Given the description of an element on the screen output the (x, y) to click on. 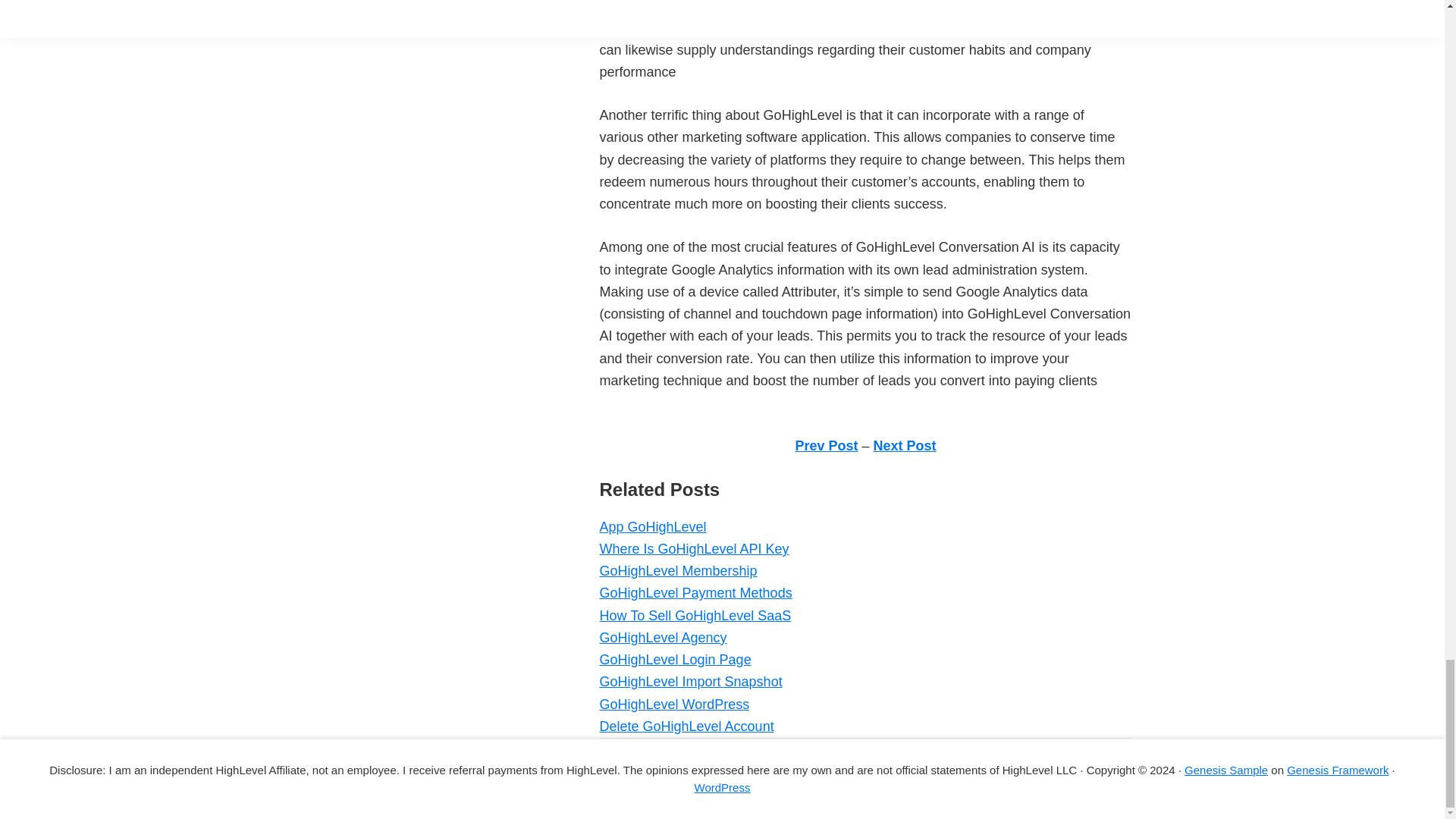
GoHighLevel Payment Methods (695, 592)
Delete GoHighLevel Account (685, 726)
GoHighLevel Membership (677, 570)
GoHighLevel Import Snapshot (689, 681)
GoHighLevel Membership (677, 570)
GoHighLevel WordPress (673, 703)
App GoHighLevel (652, 526)
GoHighLevel Agency (662, 637)
How To Sell GoHighLevel SaaS (694, 615)
App GoHighLevel (652, 526)
